Given the description of an element on the screen output the (x, y) to click on. 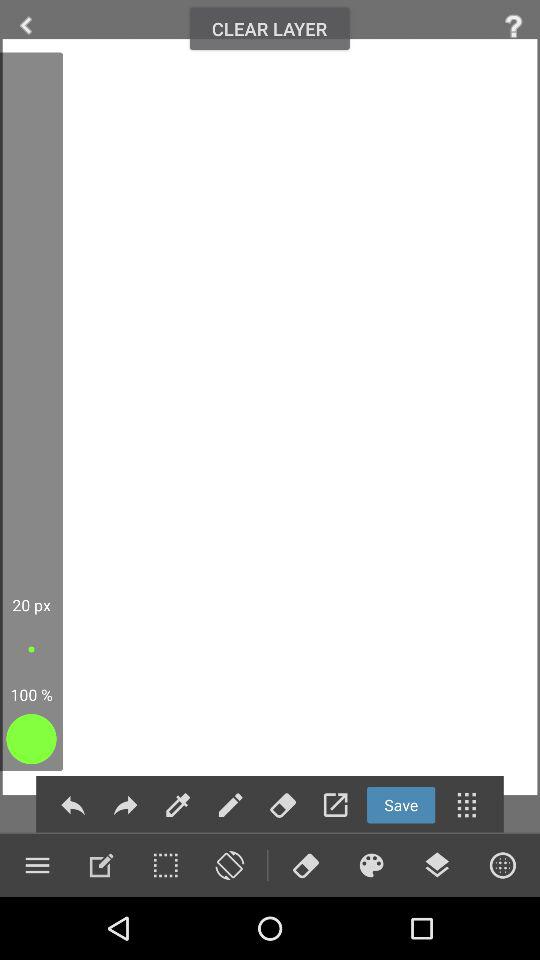
eraser (282, 804)
